Given the description of an element on the screen output the (x, y) to click on. 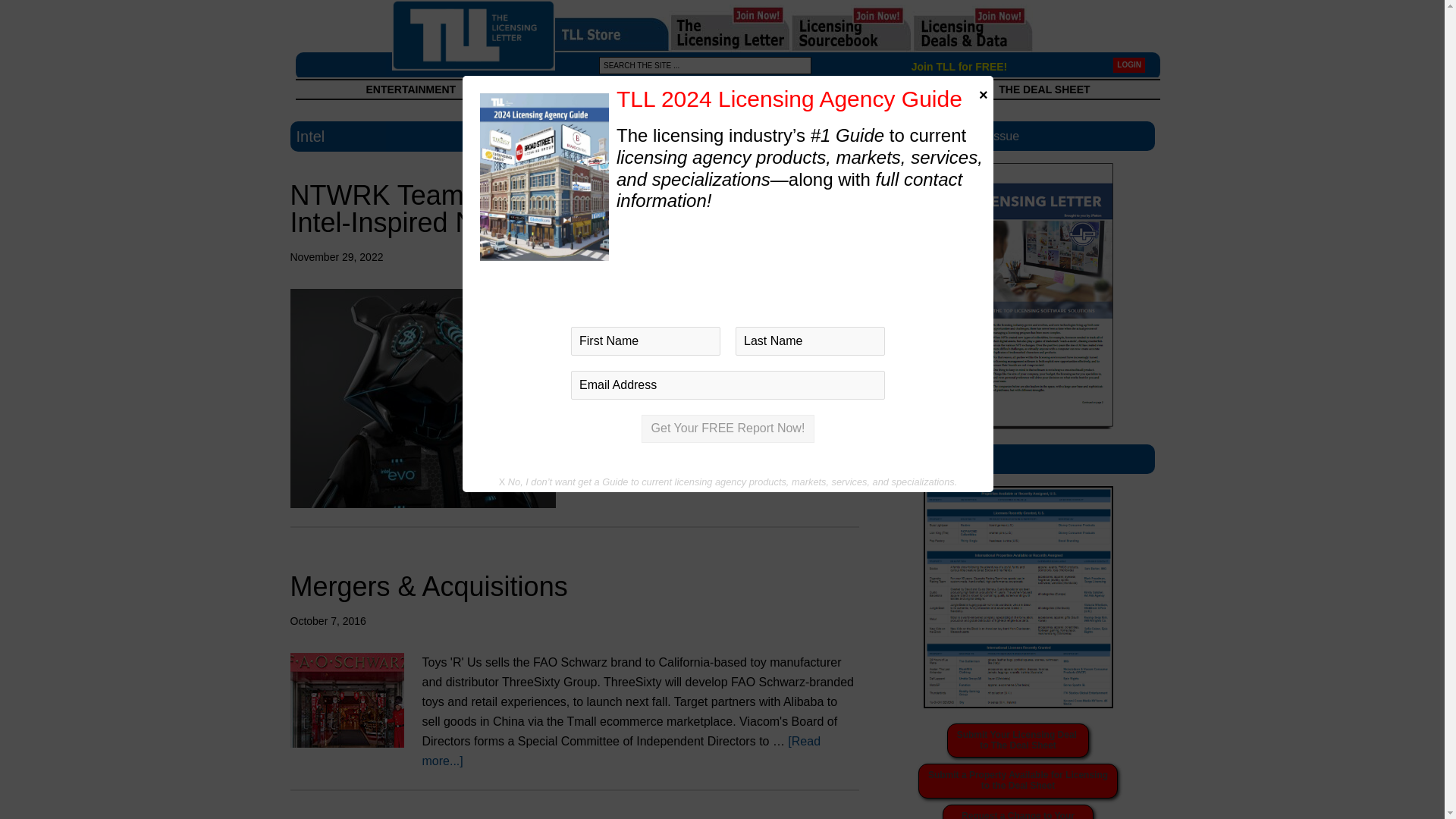
Search (106, 10)
METAVERSE (1018, 780)
Join TLL for FREE! (792, 89)
ENTERTAINMENT (959, 66)
NTWRK Teams Up With King Saladeen For Intel-Inspired NFTs (410, 89)
CORPORATE (552, 208)
FASHION (693, 89)
